Given the description of an element on the screen output the (x, y) to click on. 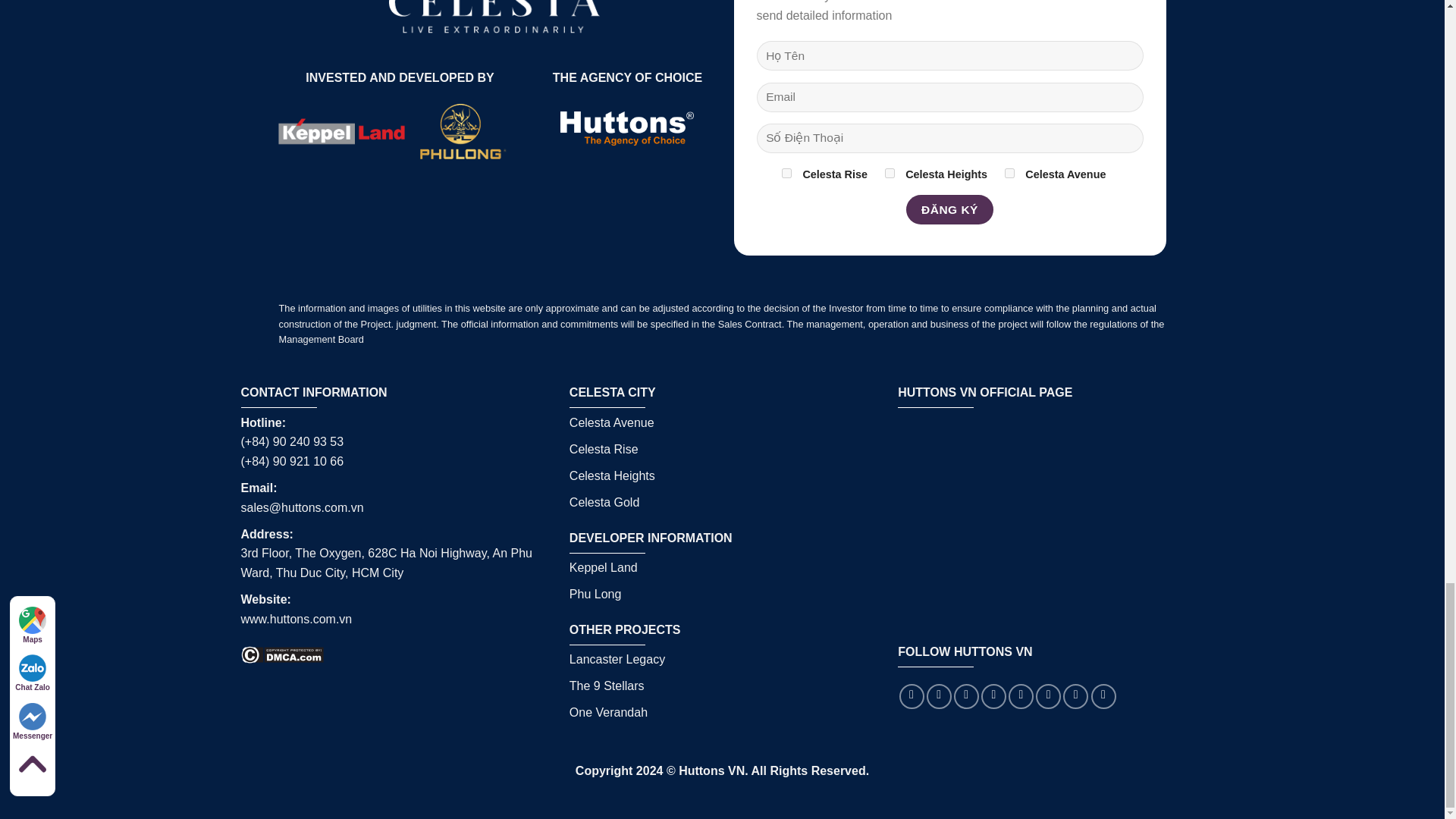
Follow on TikTok (965, 696)
Celesta Rise (786, 173)
Celesta Heights (890, 173)
Follow on Facebook (911, 696)
Call us (1048, 696)
Send us an email (1021, 696)
Follow on Instagram (939, 696)
DMCA.com Protection Status (282, 653)
Follow on Twitter (993, 696)
Follow on LinkedIn (1074, 696)
Follow on YouTube (1103, 696)
Celesta Avenue (1009, 173)
